Given the description of an element on the screen output the (x, y) to click on. 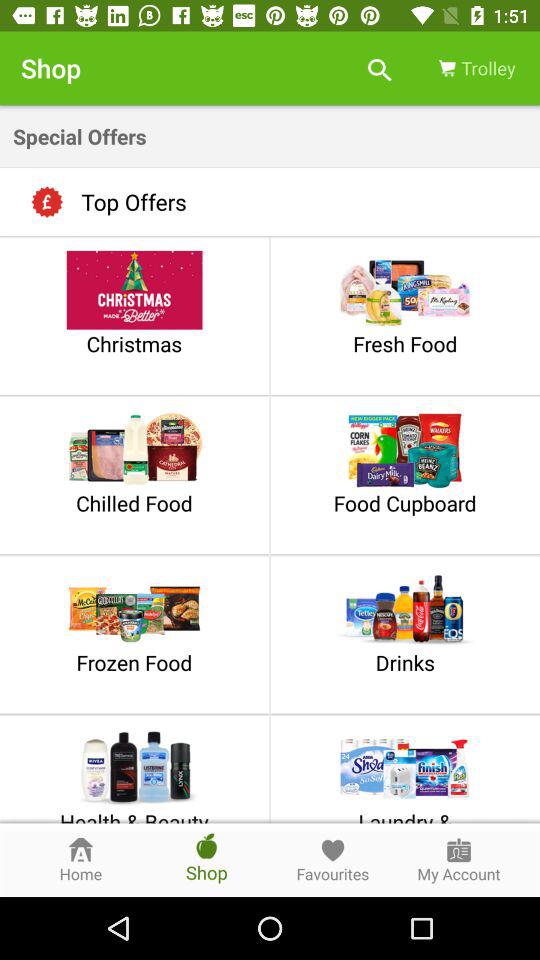
select item next to the trolley icon (379, 67)
